Given the description of an element on the screen output the (x, y) to click on. 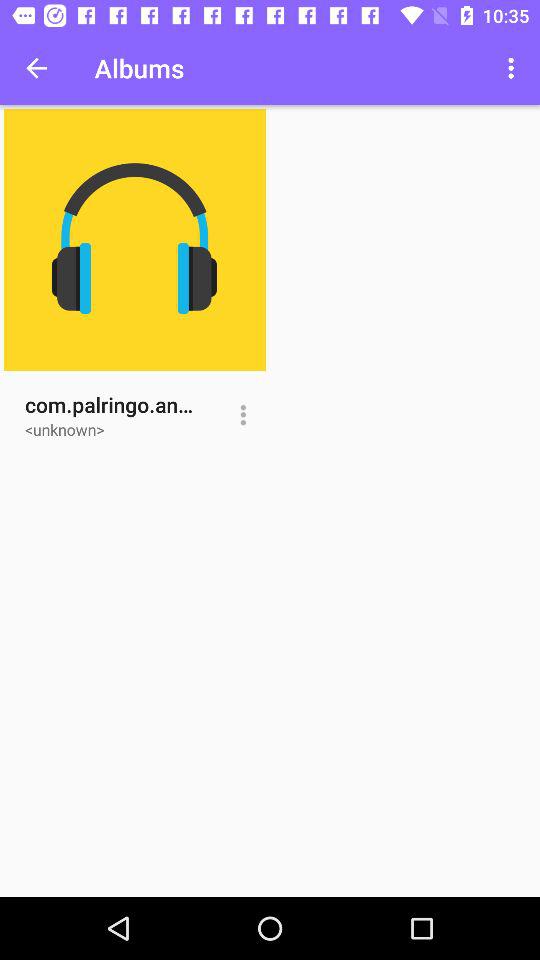
choose the icon next to com.palringo.android icon (242, 415)
